Given the description of an element on the screen output the (x, y) to click on. 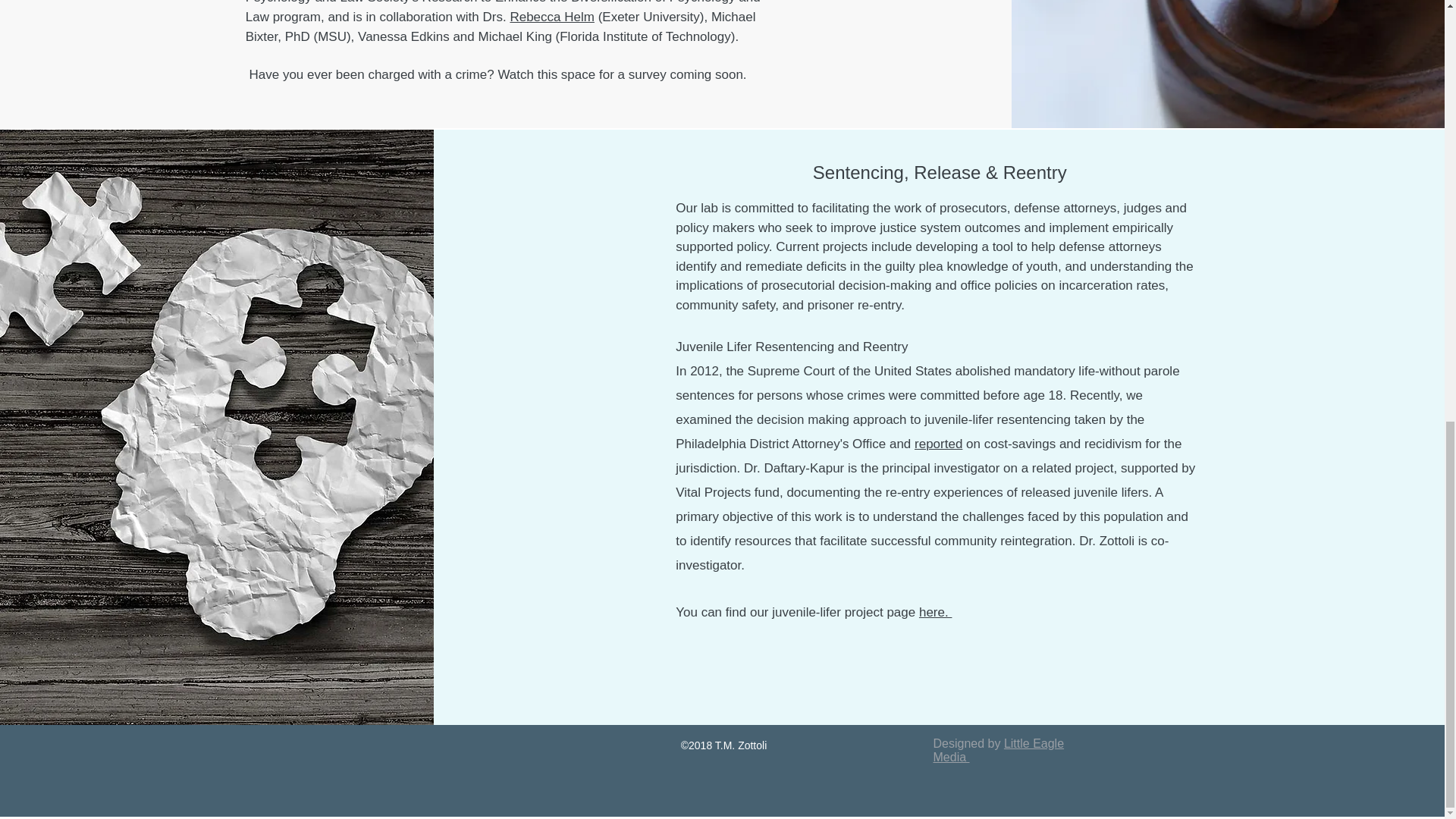
reported (938, 443)
Little Eagle Media  (998, 750)
here.  (935, 612)
Rebecca Helm (551, 16)
